Given the description of an element on the screen output the (x, y) to click on. 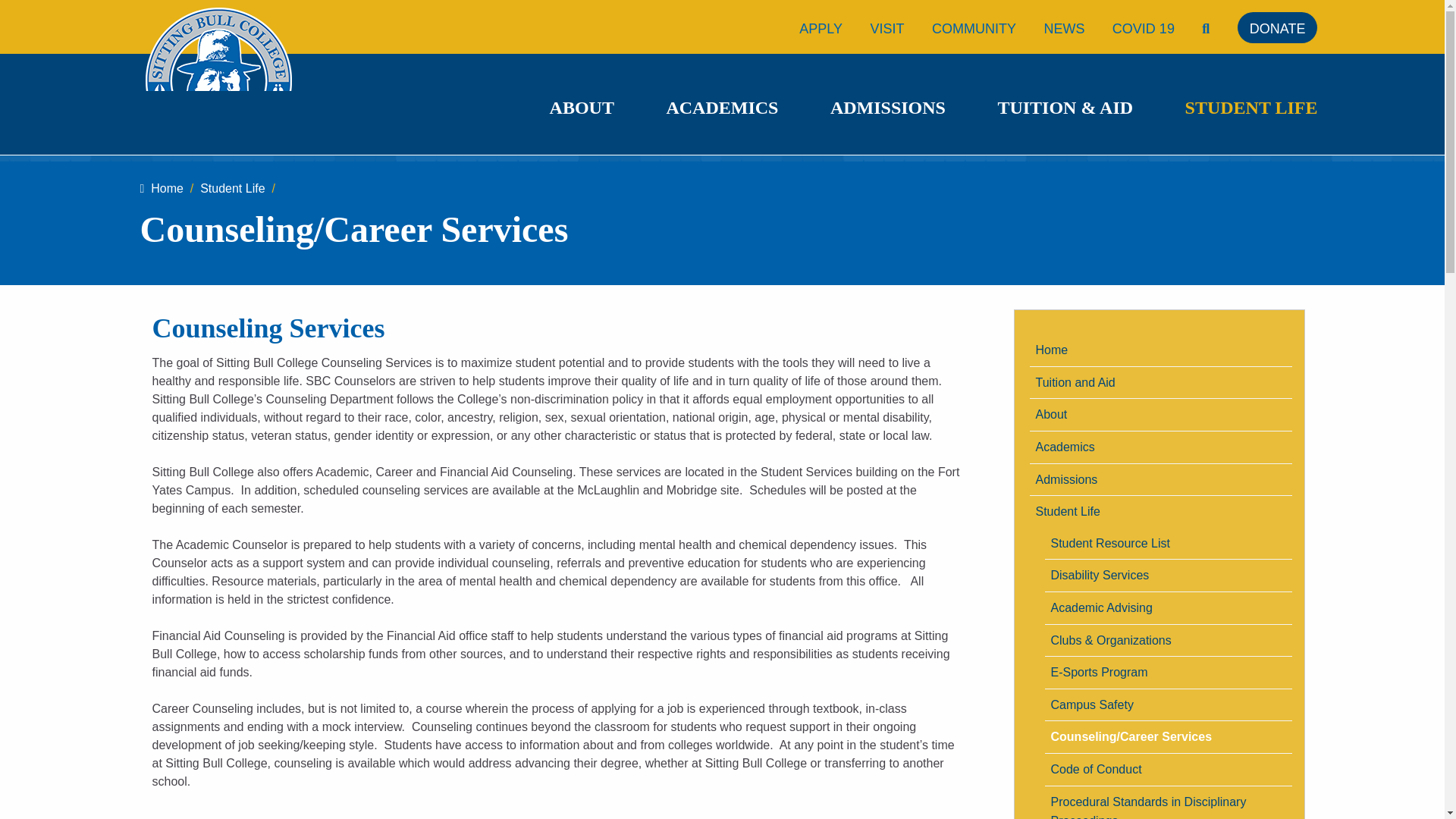
ACADEMICS (721, 107)
COMMUNITY (973, 28)
ABOUT (582, 107)
  Home (161, 187)
ADMISSIONS (886, 107)
VISIT (886, 28)
DONATE (1277, 28)
Student Life (232, 187)
NEWS (1063, 28)
APPLY (821, 28)
Home (1160, 350)
STUDENT LIFE (1251, 107)
COVID 19 (1143, 28)
